Given the description of an element on the screen output the (x, y) to click on. 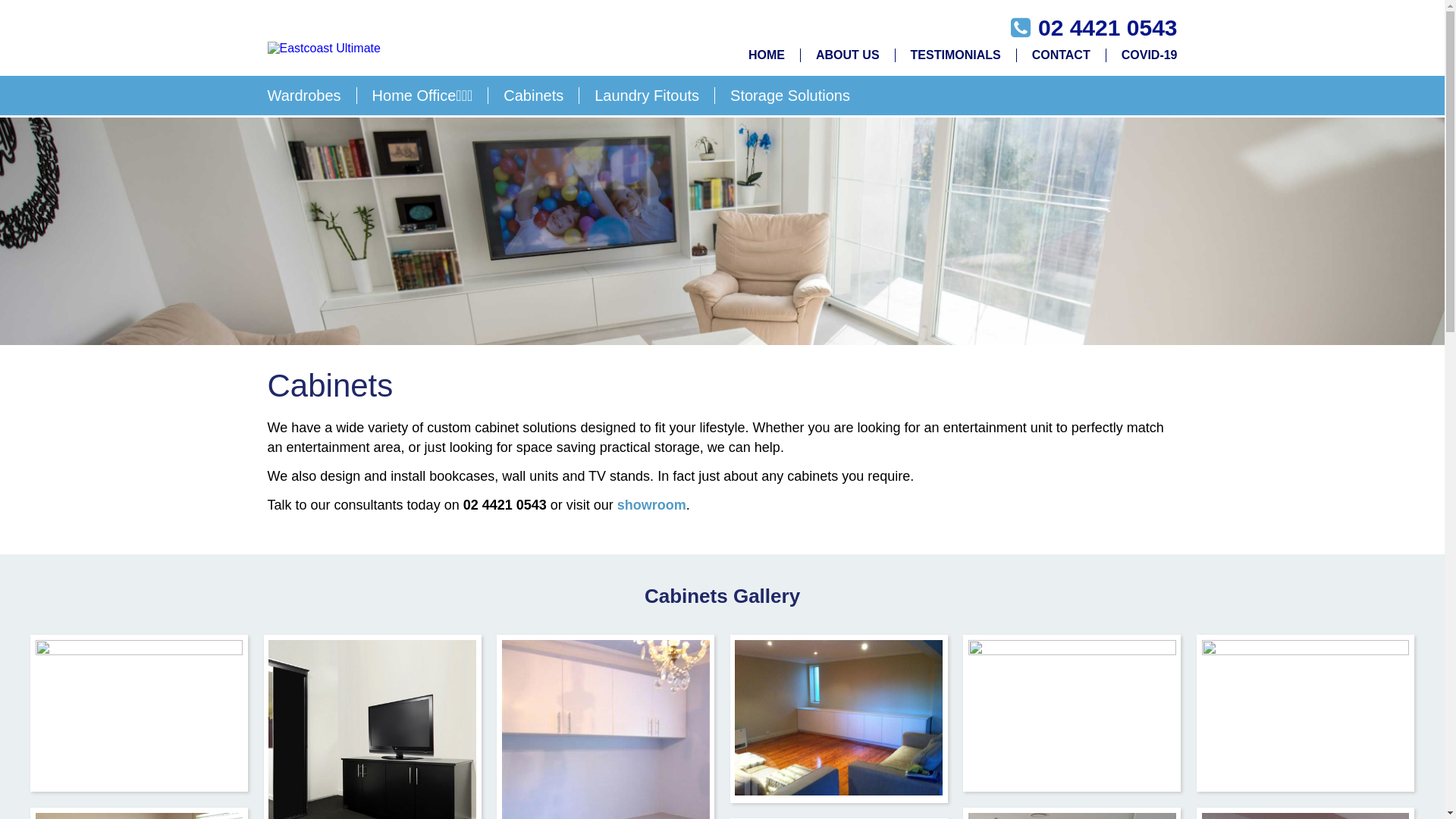
Cabinets Element type: text (533, 95)
Laundry Fitouts Element type: text (647, 95)
TESTIMONIALS Element type: text (955, 55)
HOME Element type: text (766, 55)
02 4421 0543 Element type: text (1107, 27)
showroom Element type: text (651, 504)
ABOUT US Element type: text (847, 55)
Wardrobes Element type: text (311, 95)
COVID-19 Element type: text (1141, 55)
CONTACT Element type: text (1061, 55)
Storage Solutions Element type: text (782, 95)
